Given the description of an element on the screen output the (x, y) to click on. 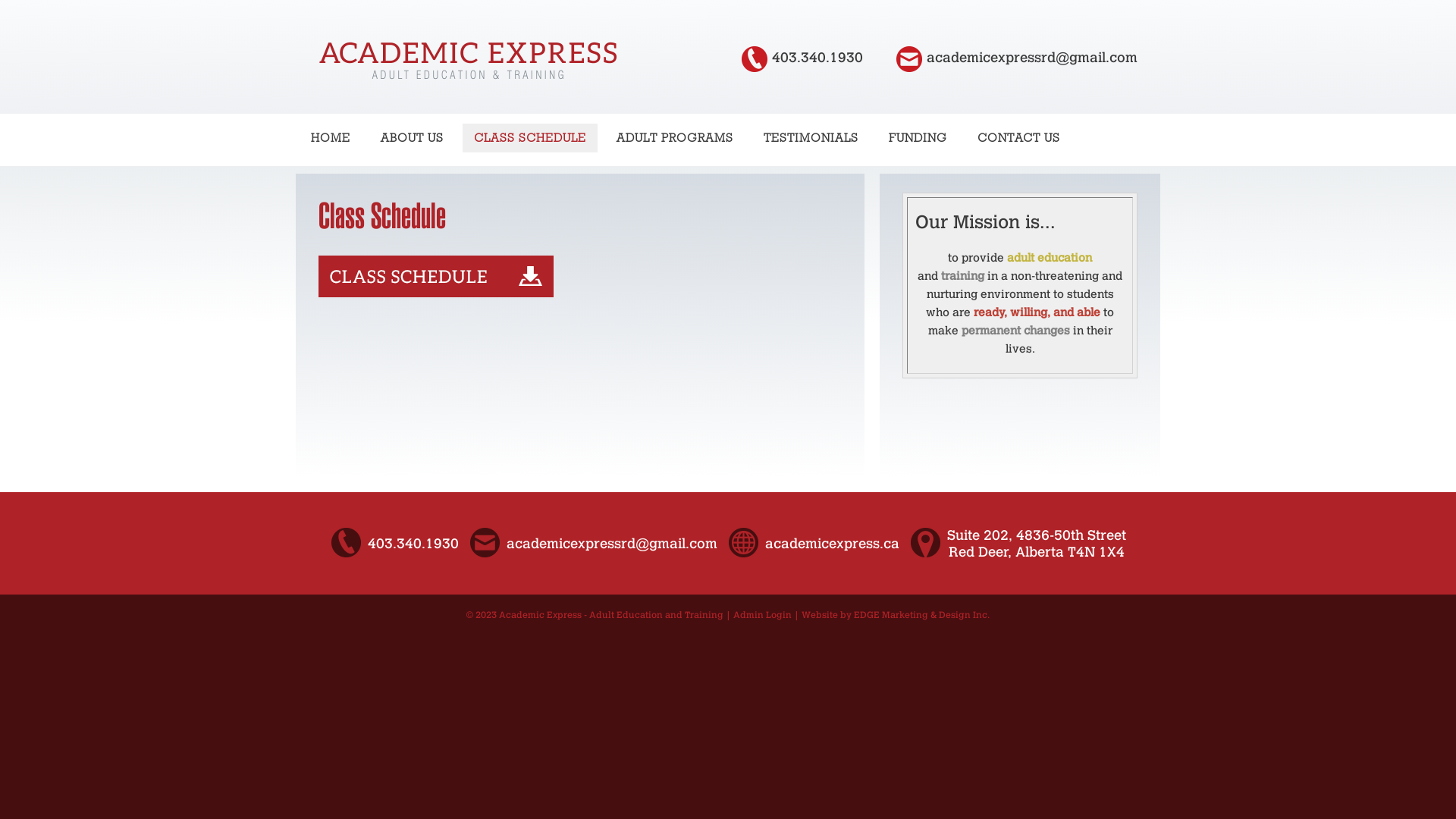
academicexpressrd@gmail.com Element type: text (1031, 57)
academicexpress.ca Element type: text (831, 543)
HOME Element type: text (330, 137)
  Element type: text (911, 57)
ADULT PROGRAMS Element type: text (674, 137)
FUNDING Element type: text (917, 137)
SCHEDULE WINTER 2024.pdf Element type: hover (435, 293)
CLASS SCHEDULE Element type: text (529, 137)
Academic Express - Adult Education and Training Element type: text (610, 614)
Admin Login Element type: text (762, 614)
CONTACT US Element type: text (1018, 137)
ABOUT US Element type: text (412, 137)
academicexpressrd@gmail.com Element type: text (611, 543)
TESTIMONIALS Element type: text (810, 137)
